Given the description of an element on the screen output the (x, y) to click on. 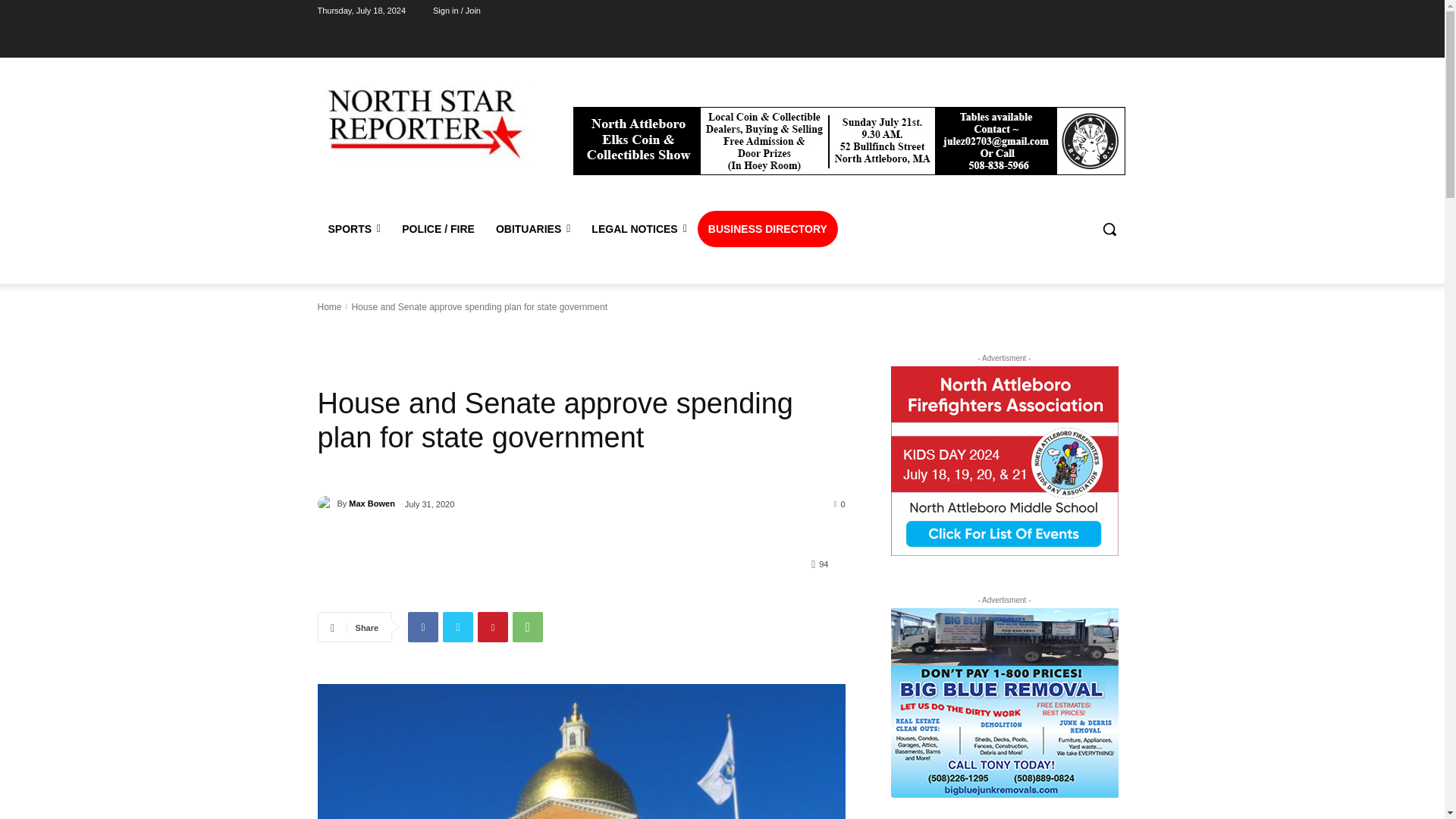
SPORTS (354, 228)
OBITUARIES (532, 228)
